Given the description of an element on the screen output the (x, y) to click on. 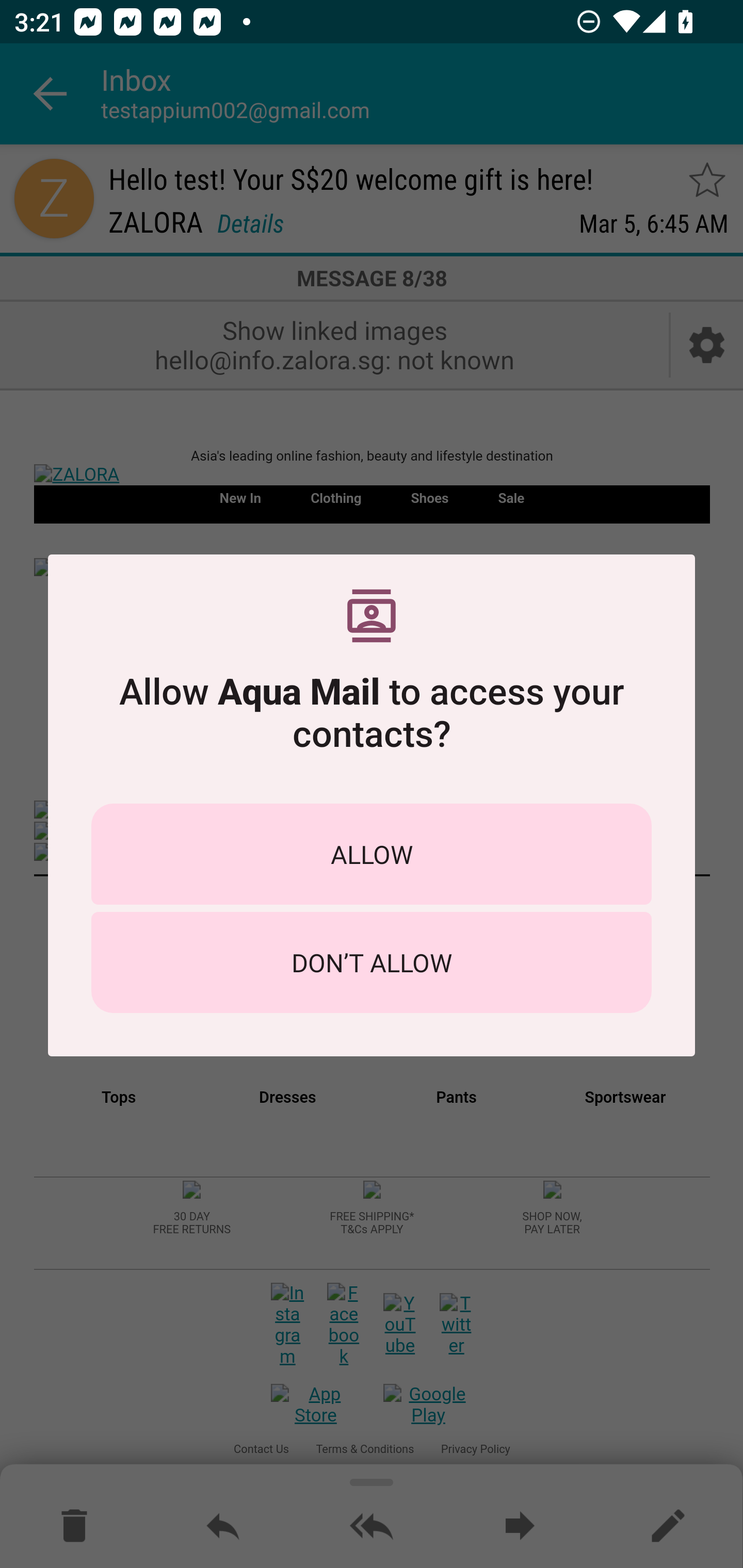
ALLOW (371, 853)
DON’T ALLOW (371, 962)
